Given the description of an element on the screen output the (x, y) to click on. 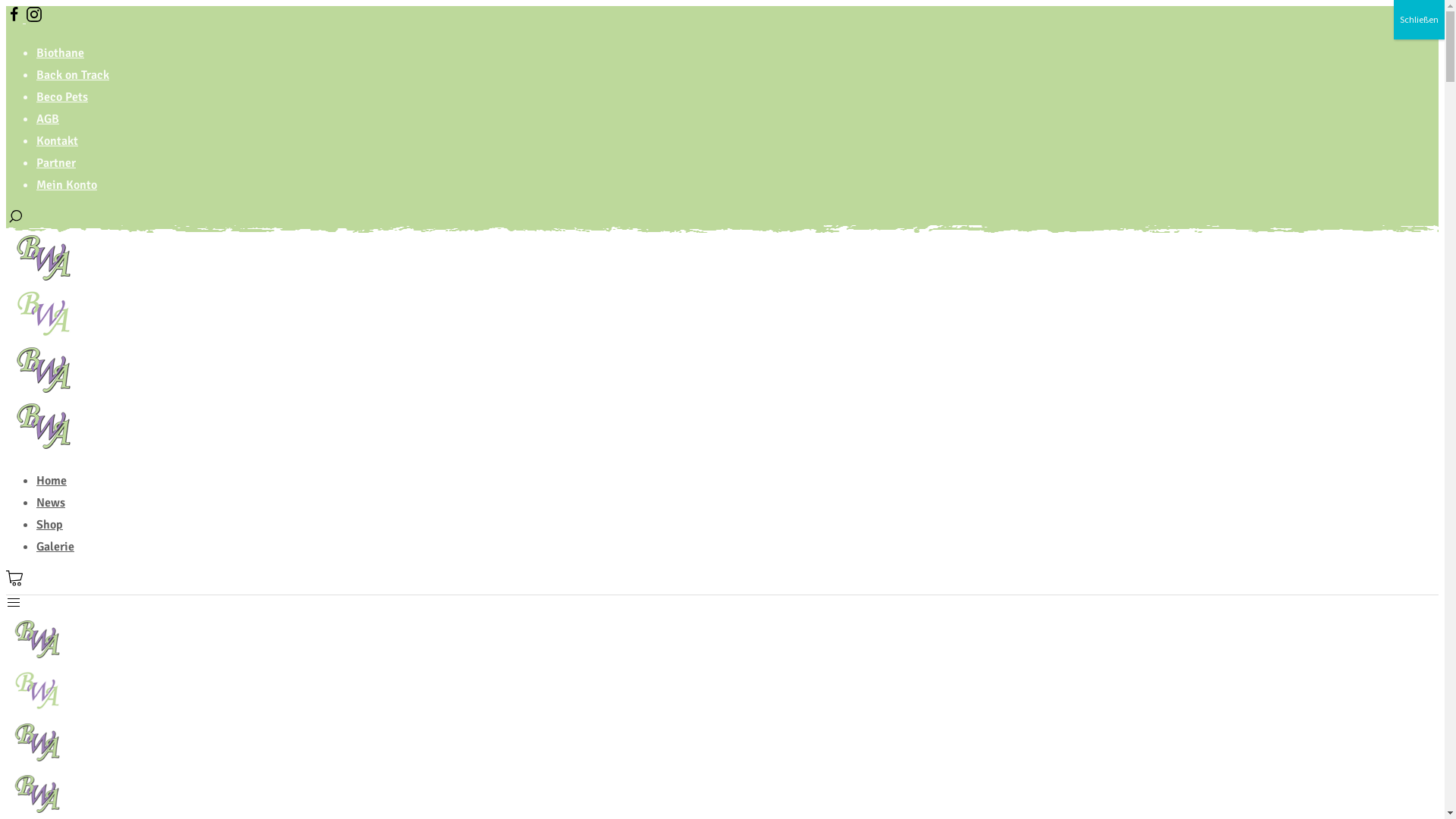
Shop Element type: text (49, 524)
Galerie Element type: text (55, 546)
Mein Konto Element type: text (66, 184)
Beco Pets Element type: text (61, 96)
Biothane Element type: text (60, 52)
News Element type: text (50, 502)
Follow Us on Facebook Element type: hover (15, 18)
Partner Element type: text (55, 162)
Cart Element type: hover (15, 583)
AGB Element type: text (47, 118)
Back on Track Element type: text (72, 74)
Follow Us on Instagram Element type: hover (33, 18)
Kontakt Element type: text (57, 140)
Home Element type: text (51, 480)
